Given the description of an element on the screen output the (x, y) to click on. 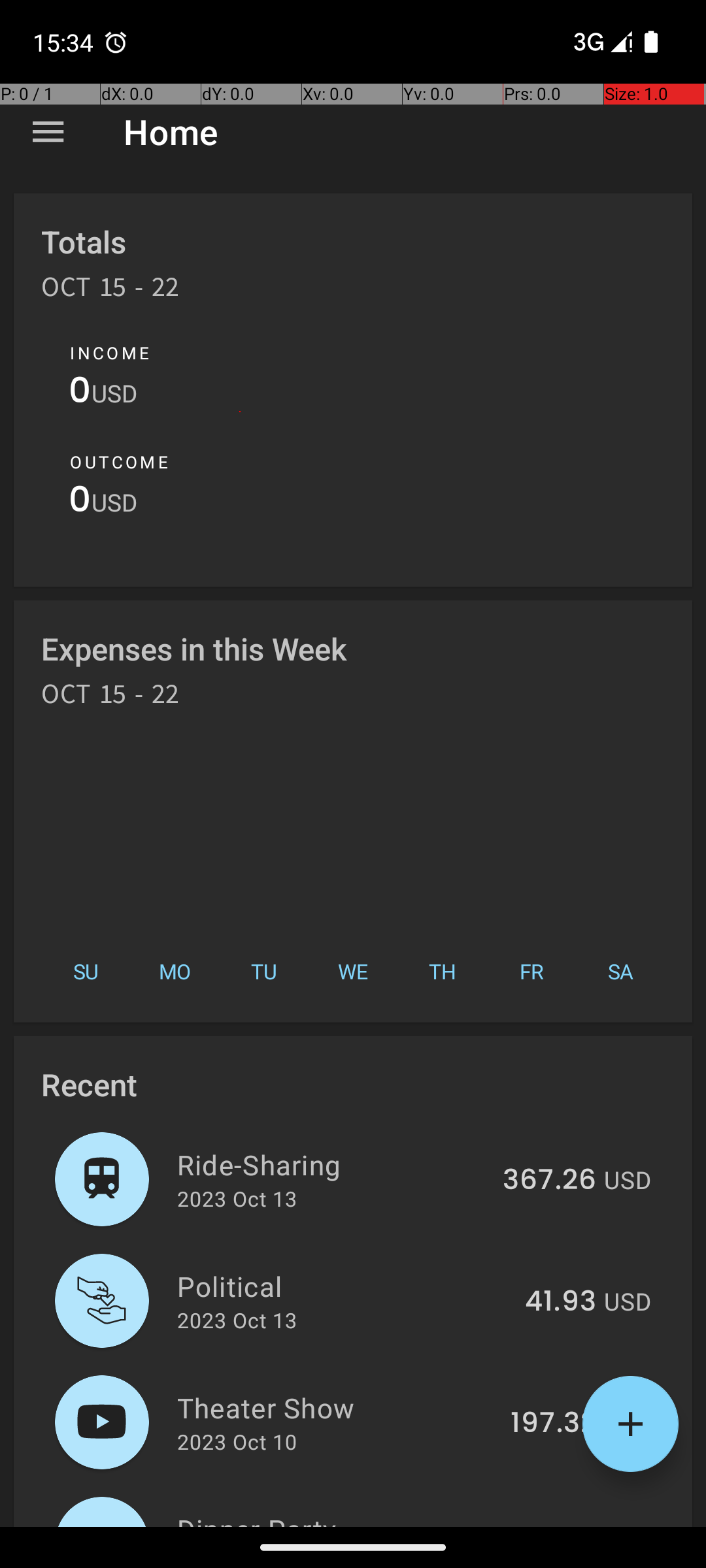
367.26 Element type: android.widget.TextView (549, 1180)
Political Element type: android.widget.TextView (343, 1285)
41.93 Element type: android.widget.TextView (560, 1301)
Theater Show Element type: android.widget.TextView (336, 1407)
197.32 Element type: android.widget.TextView (552, 1423)
499.74 Element type: android.widget.TextView (547, 1524)
